Given the description of an element on the screen output the (x, y) to click on. 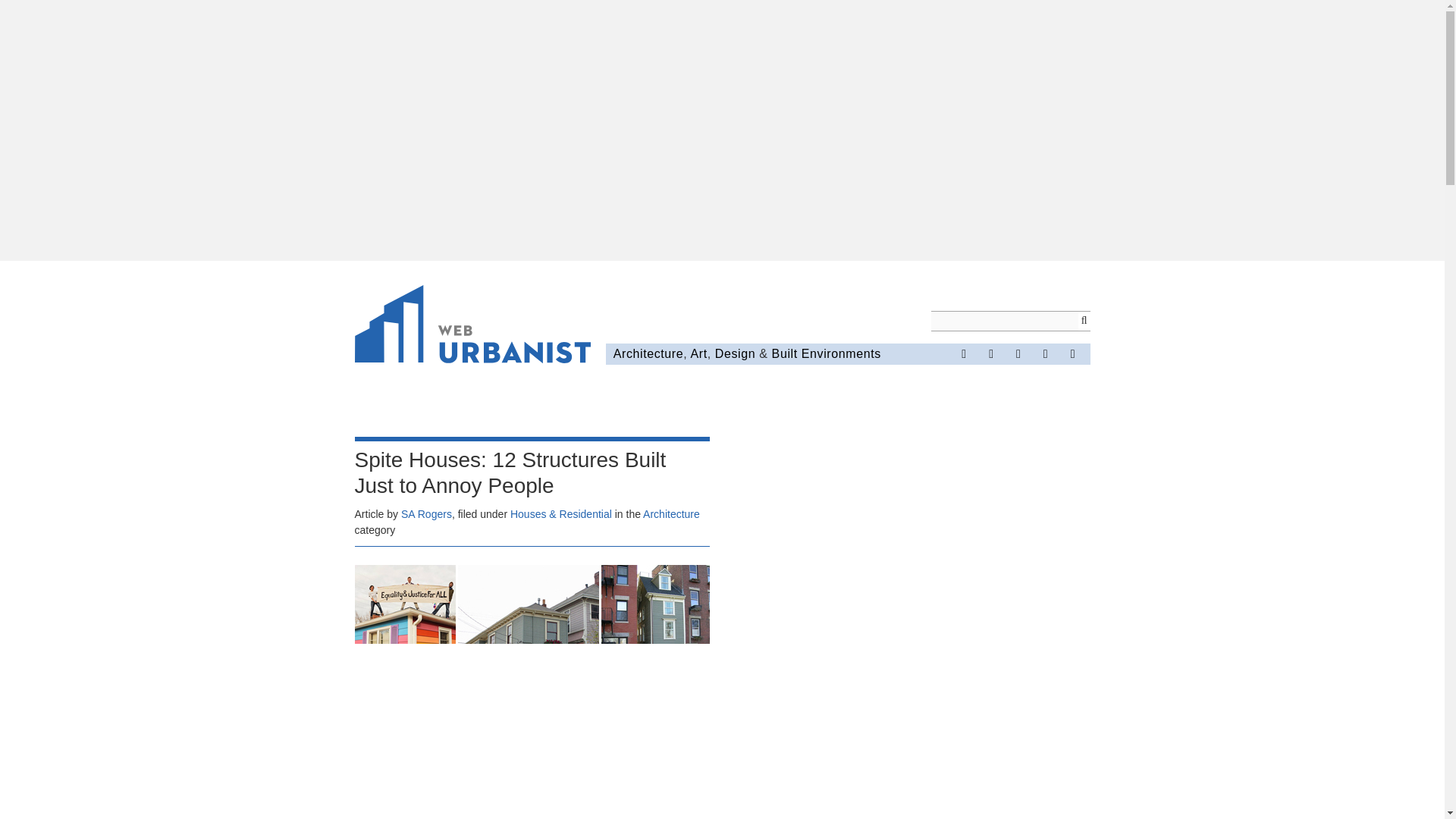
Environments (841, 353)
Architecture (671, 513)
WebUrbanist (473, 326)
Check Out Posts on Pinterest! (1018, 353)
Art (698, 353)
Subscribe to the RSS Feed! (1045, 353)
Subscribe by Email (1072, 353)
Built (784, 353)
SA Rogers (426, 513)
